Given the description of an element on the screen output the (x, y) to click on. 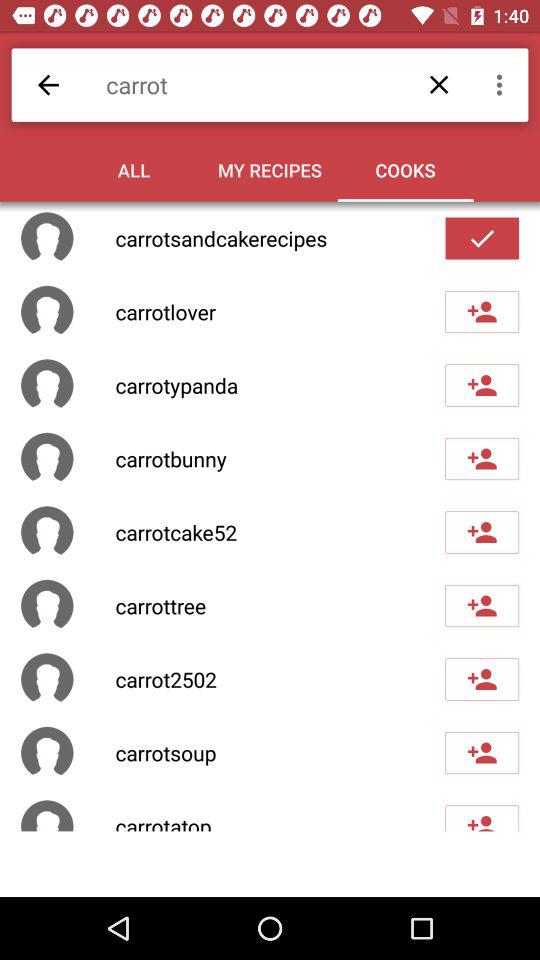
add friend (482, 818)
